Given the description of an element on the screen output the (x, y) to click on. 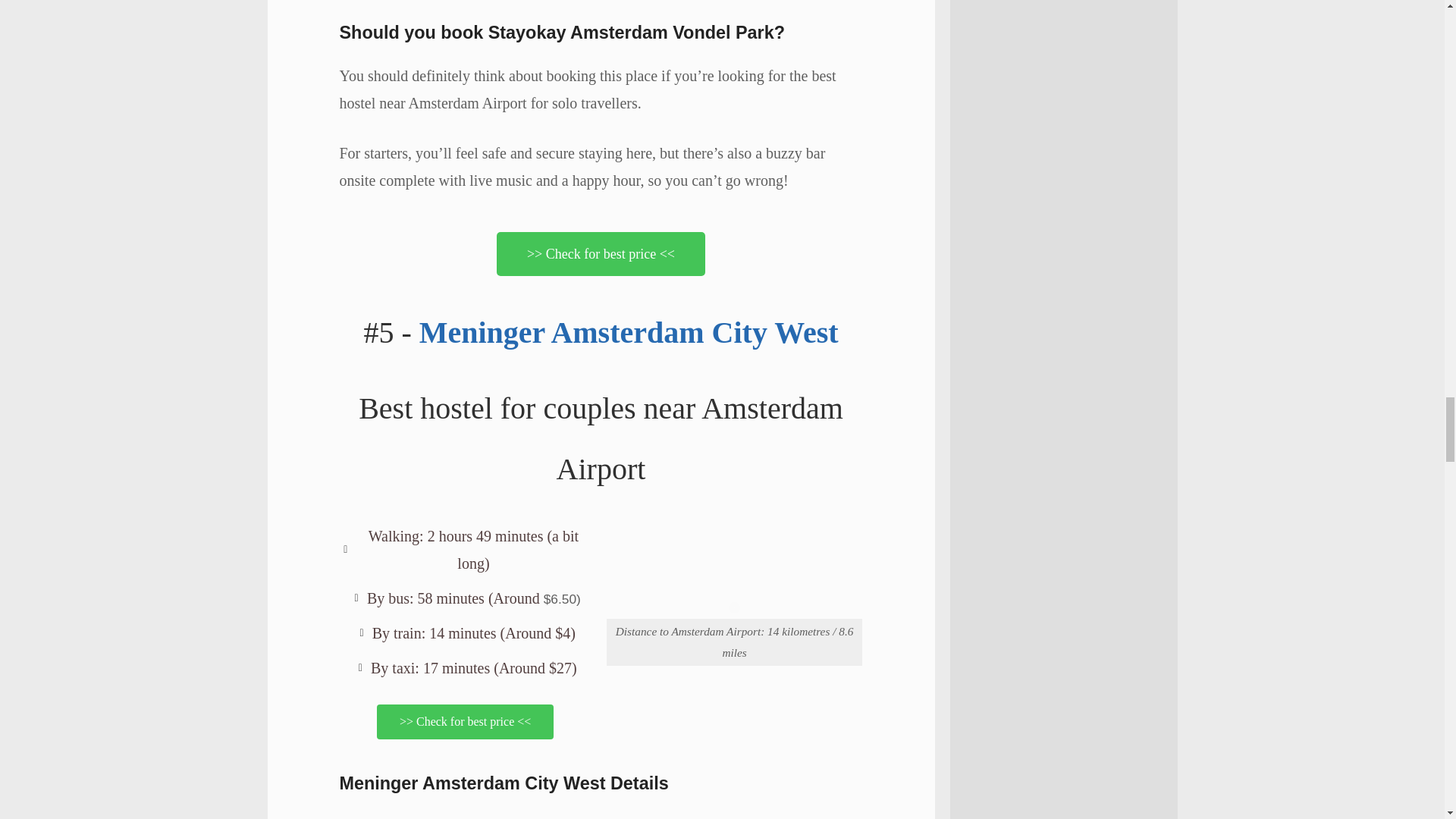
Meninger Amsterdam City West (628, 332)
